Given the description of an element on the screen output the (x, y) to click on. 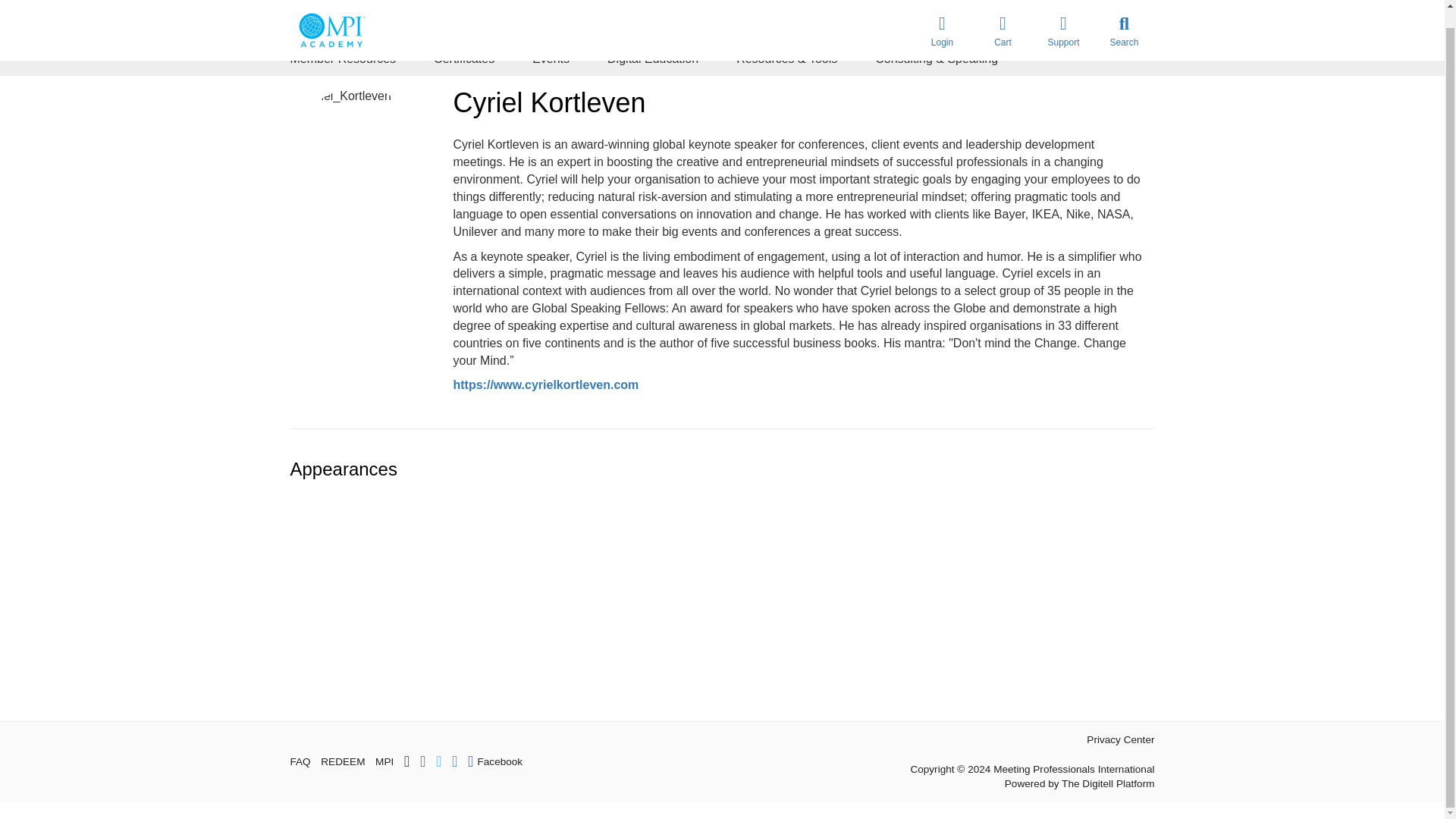
Facebook (494, 761)
Search (1123, 21)
REDEEM (342, 761)
Events (550, 59)
Support (1062, 21)
MPI (384, 761)
Search (1123, 21)
Login (941, 21)
Certificates (463, 59)
Cart (1002, 21)
Digital Education (652, 59)
Login (941, 21)
Support (1062, 21)
FAQ (299, 761)
MPI (384, 761)
